Given the description of an element on the screen output the (x, y) to click on. 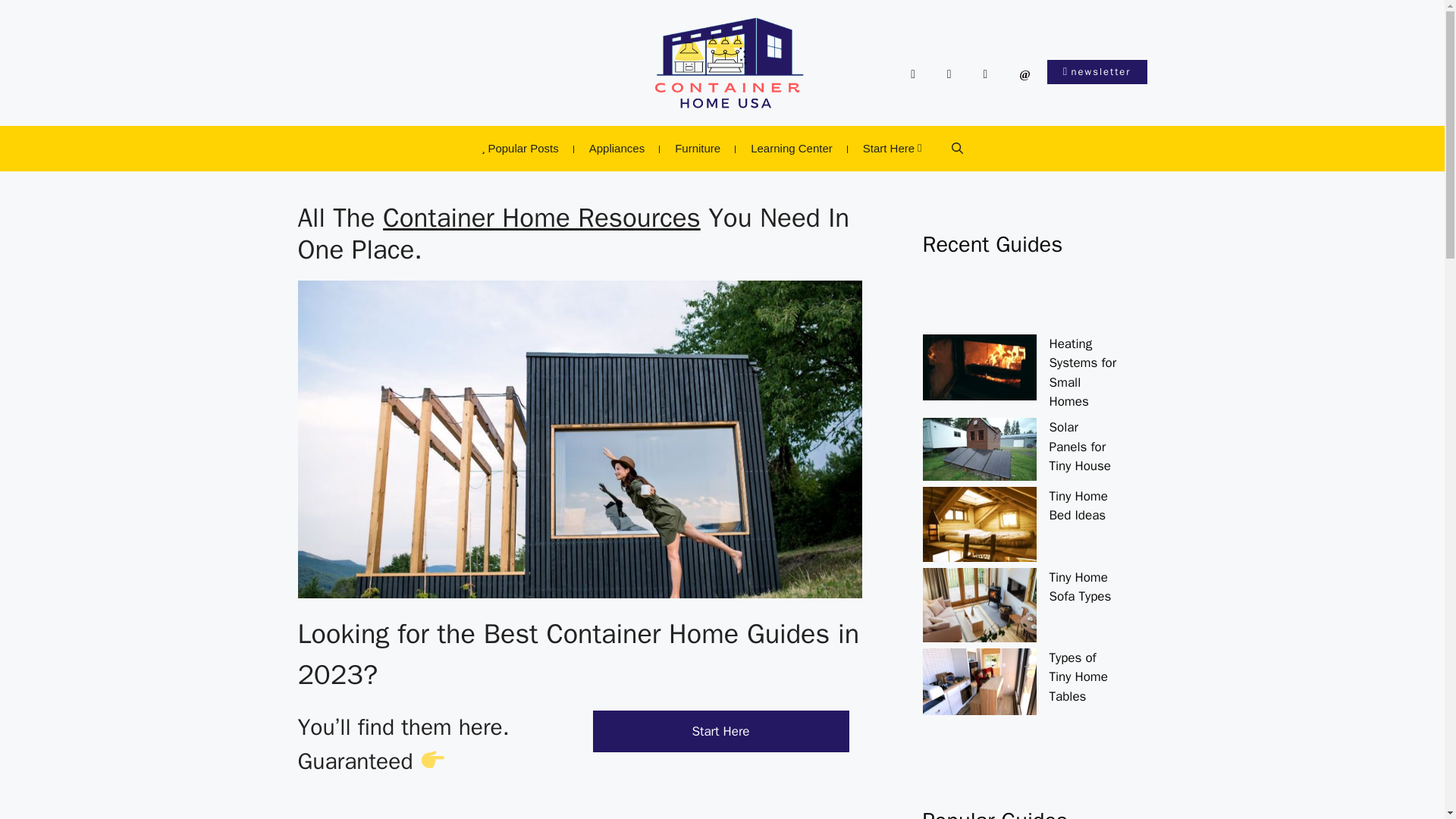
Start Here (720, 731)
Popular Posts (519, 148)
info (986, 74)
Start Here (892, 148)
Learning Center (791, 148)
contact us (1025, 74)
Furniture (697, 148)
Appliances (616, 148)
pinterest (949, 74)
facebook (913, 74)
newsletter (1096, 71)
